Given the description of an element on the screen output the (x, y) to click on. 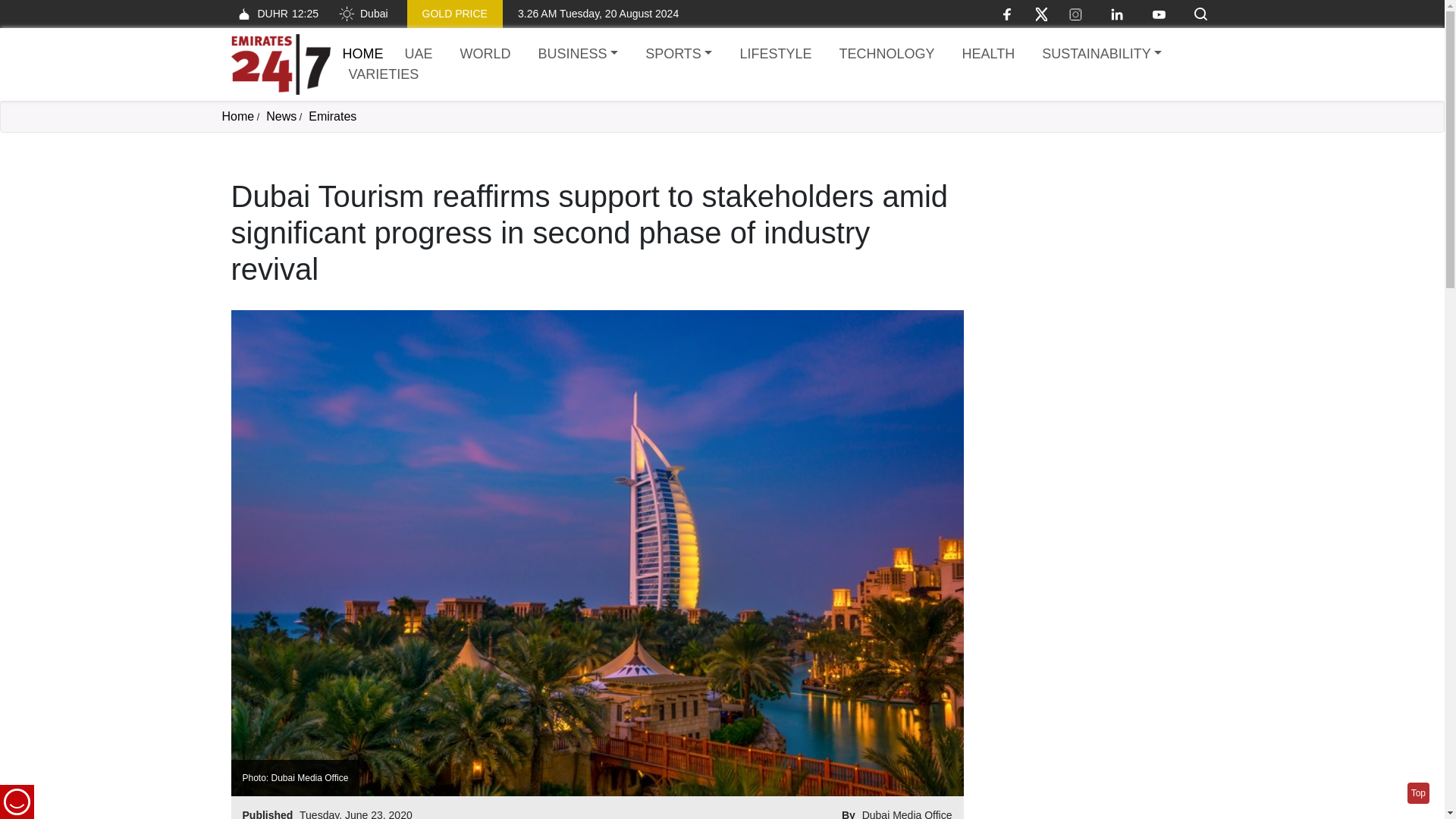
Emirates (332, 115)
HOME (363, 53)
HEALTH (987, 54)
News (281, 115)
WORLD (485, 54)
UAE (418, 54)
VARIETIES (383, 74)
Home (237, 115)
TECHNOLOGY (886, 54)
Home (280, 64)
